Given the description of an element on the screen output the (x, y) to click on. 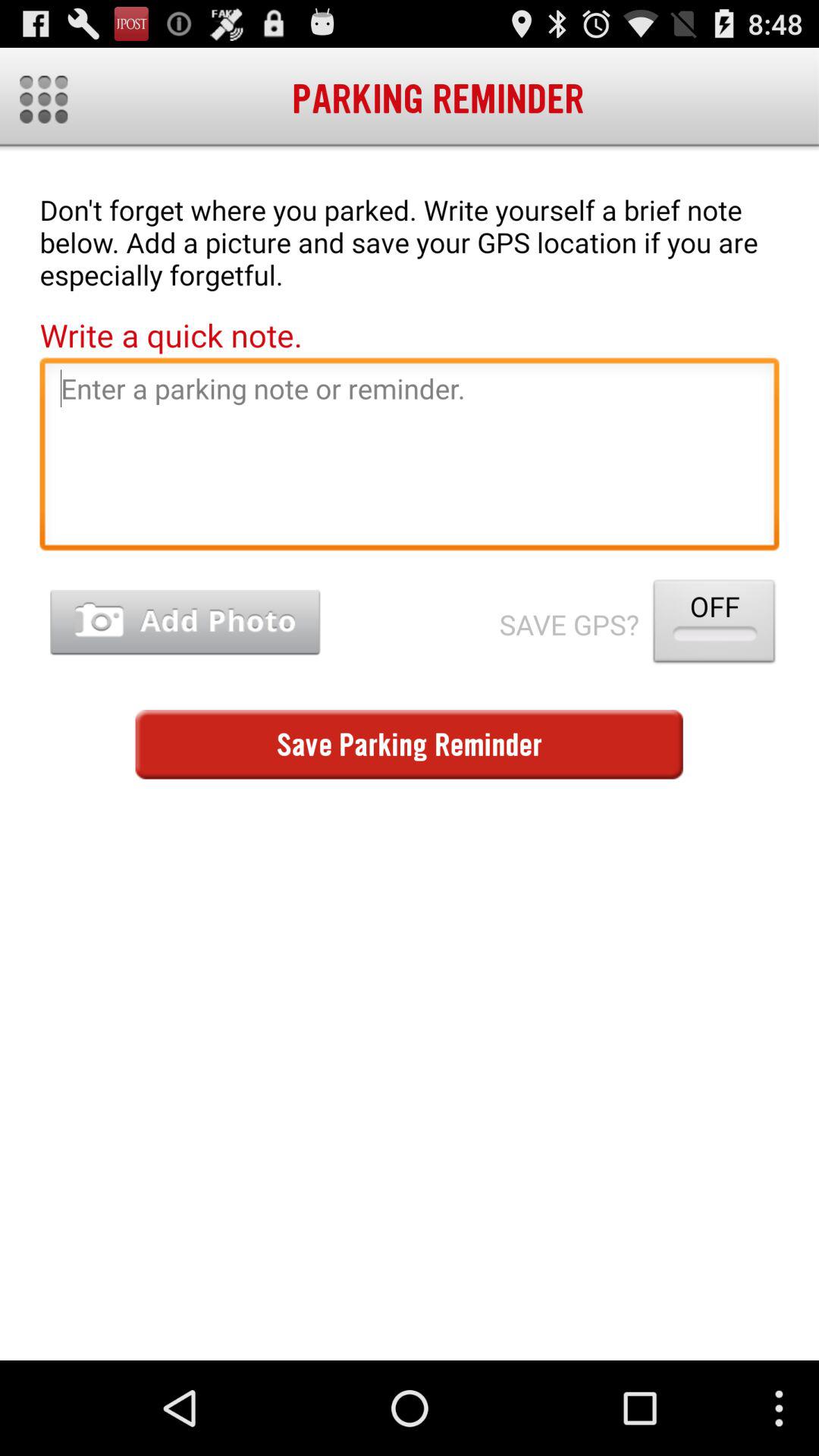
parking reminder text field (409, 457)
